Given the description of an element on the screen output the (x, y) to click on. 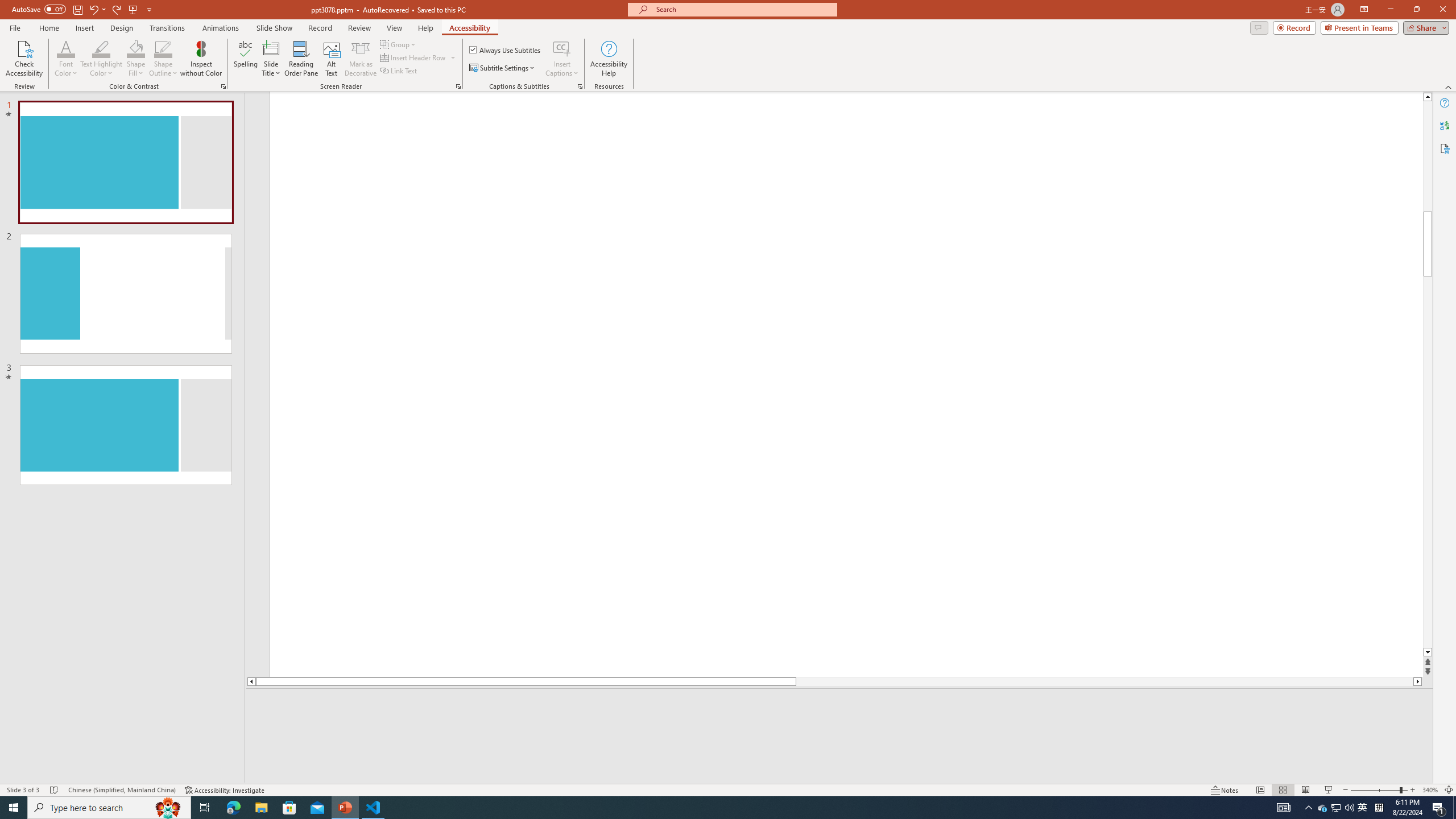
Reading Order Pane (301, 58)
